Given the description of an element on the screen output the (x, y) to click on. 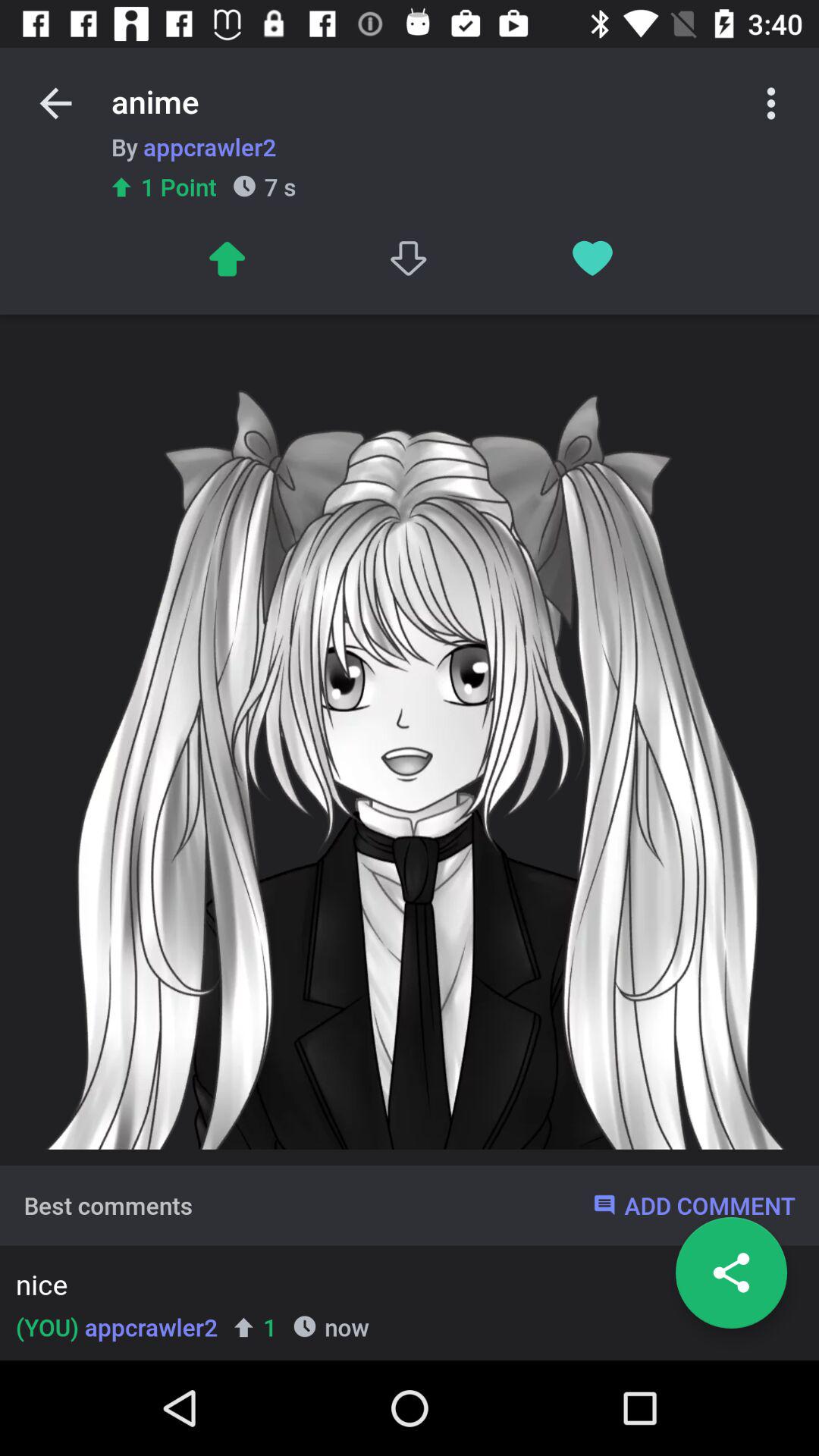
launch nice (405, 1287)
